Given the description of an element on the screen output the (x, y) to click on. 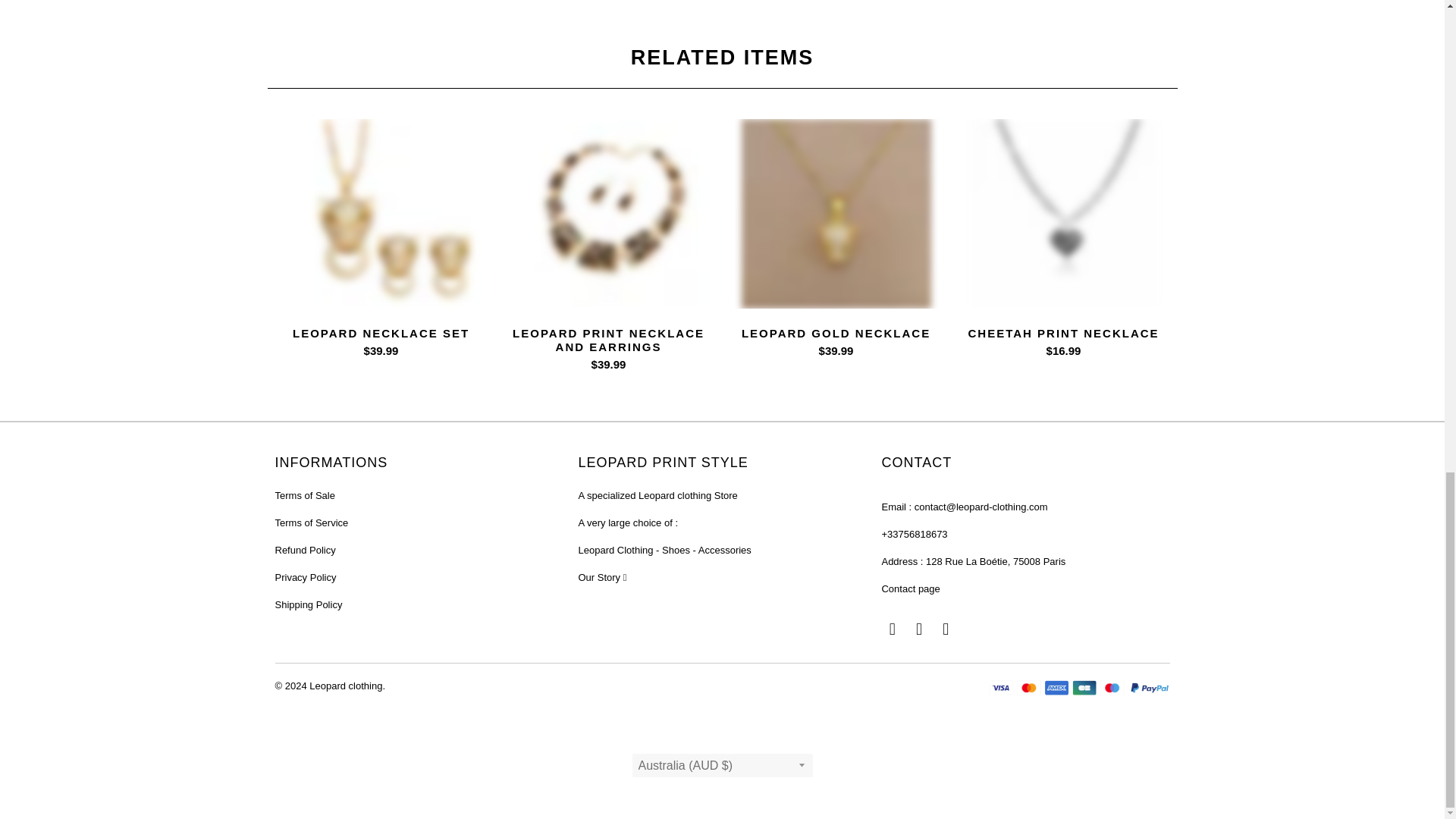
Leopard clothing on Pinterest (892, 628)
Contact (909, 588)
